Given the description of an element on the screen output the (x, y) to click on. 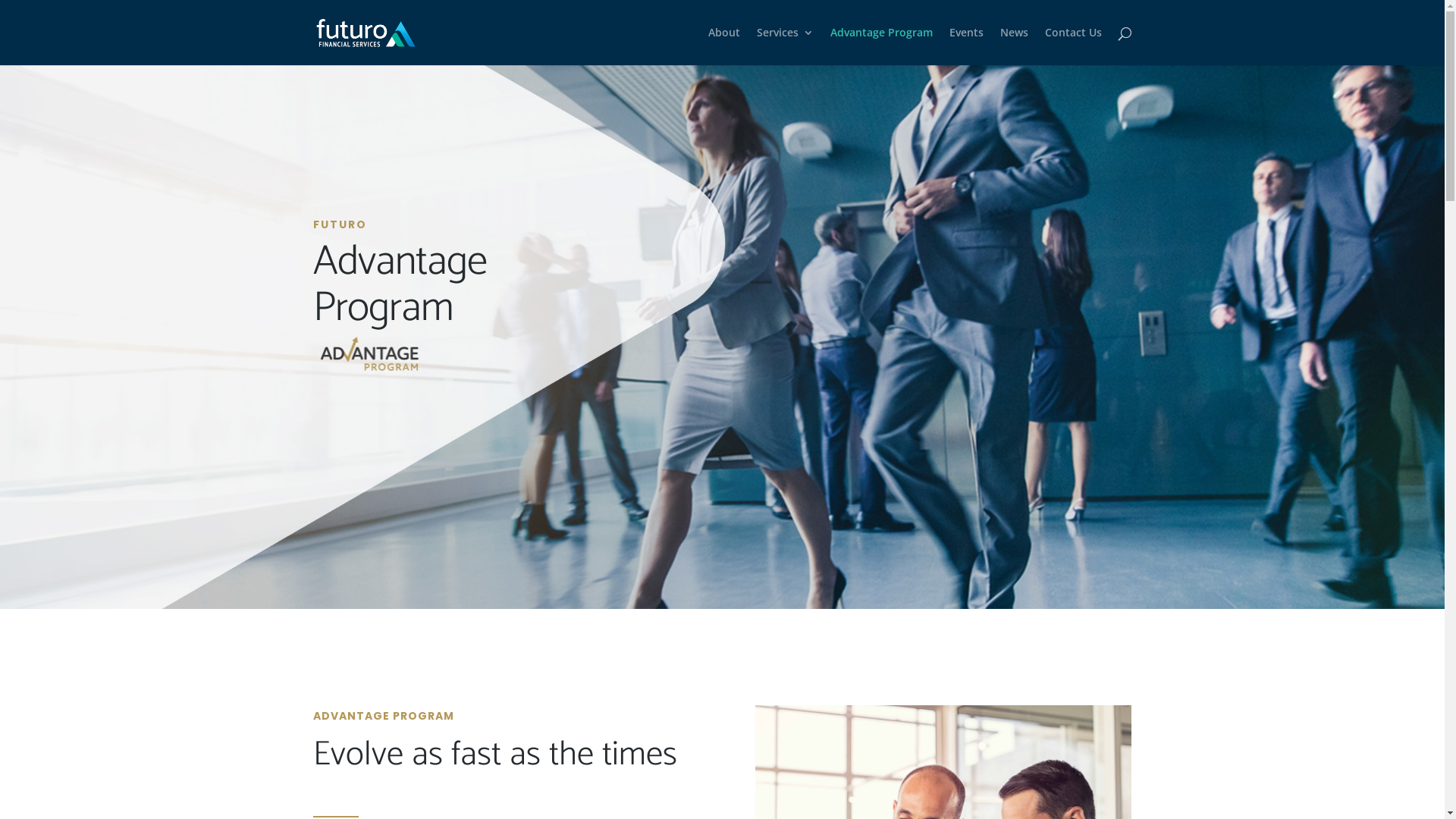
News Element type: text (1013, 46)
Contact Us Element type: text (1072, 46)
About Element type: text (724, 46)
Services Element type: text (784, 46)
Advantage Program Element type: text (880, 46)
Events Element type: text (966, 46)
